Given the description of an element on the screen output the (x, y) to click on. 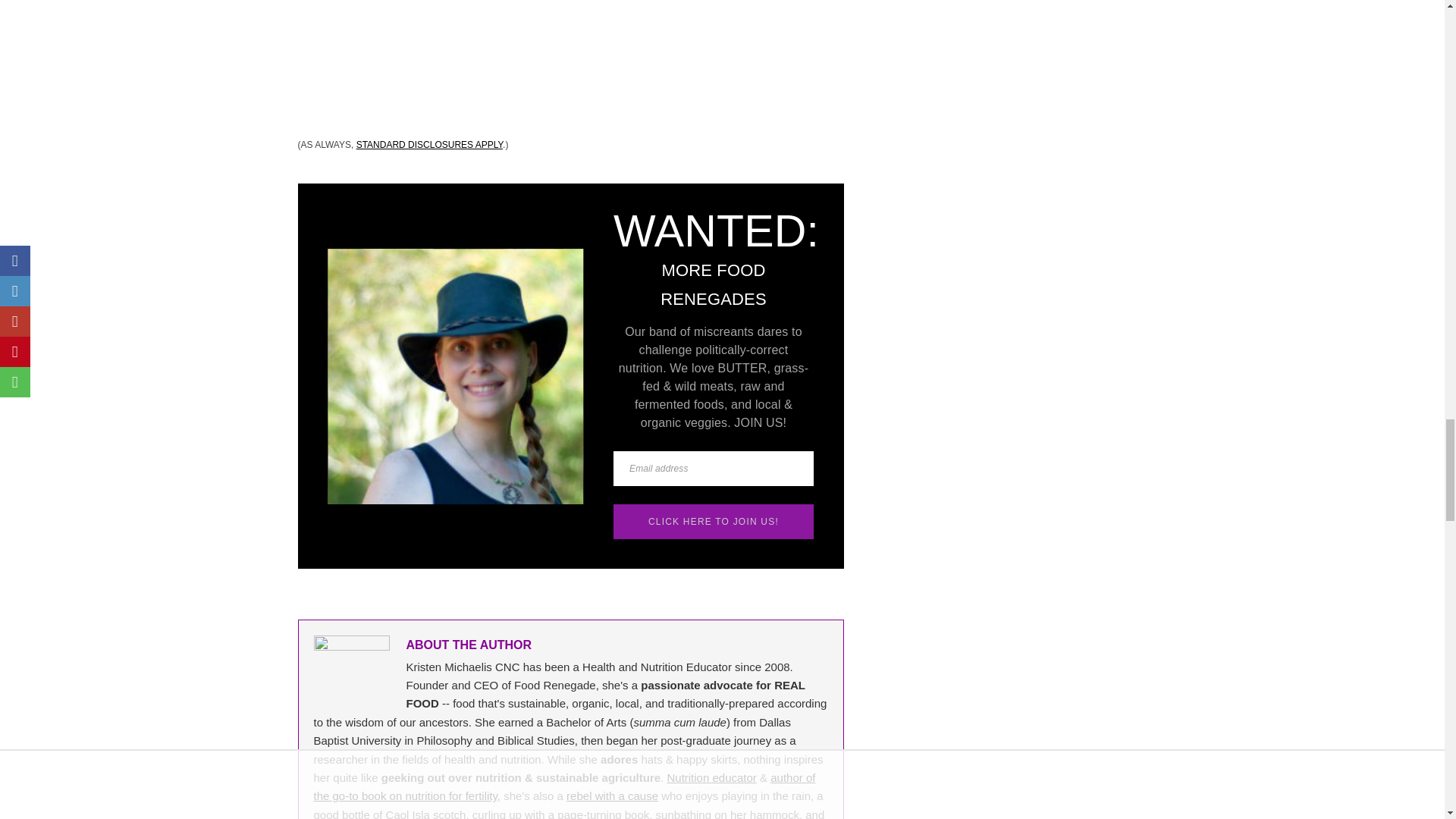
CLICK HERE TO JOIN US! (712, 521)
author of the go-to book on nutrition for fertility (564, 786)
rebel with a cause (612, 795)
STANDARD DISCLOSURES APPLY (429, 144)
Nutrition educator (710, 777)
